Given the description of an element on the screen output the (x, y) to click on. 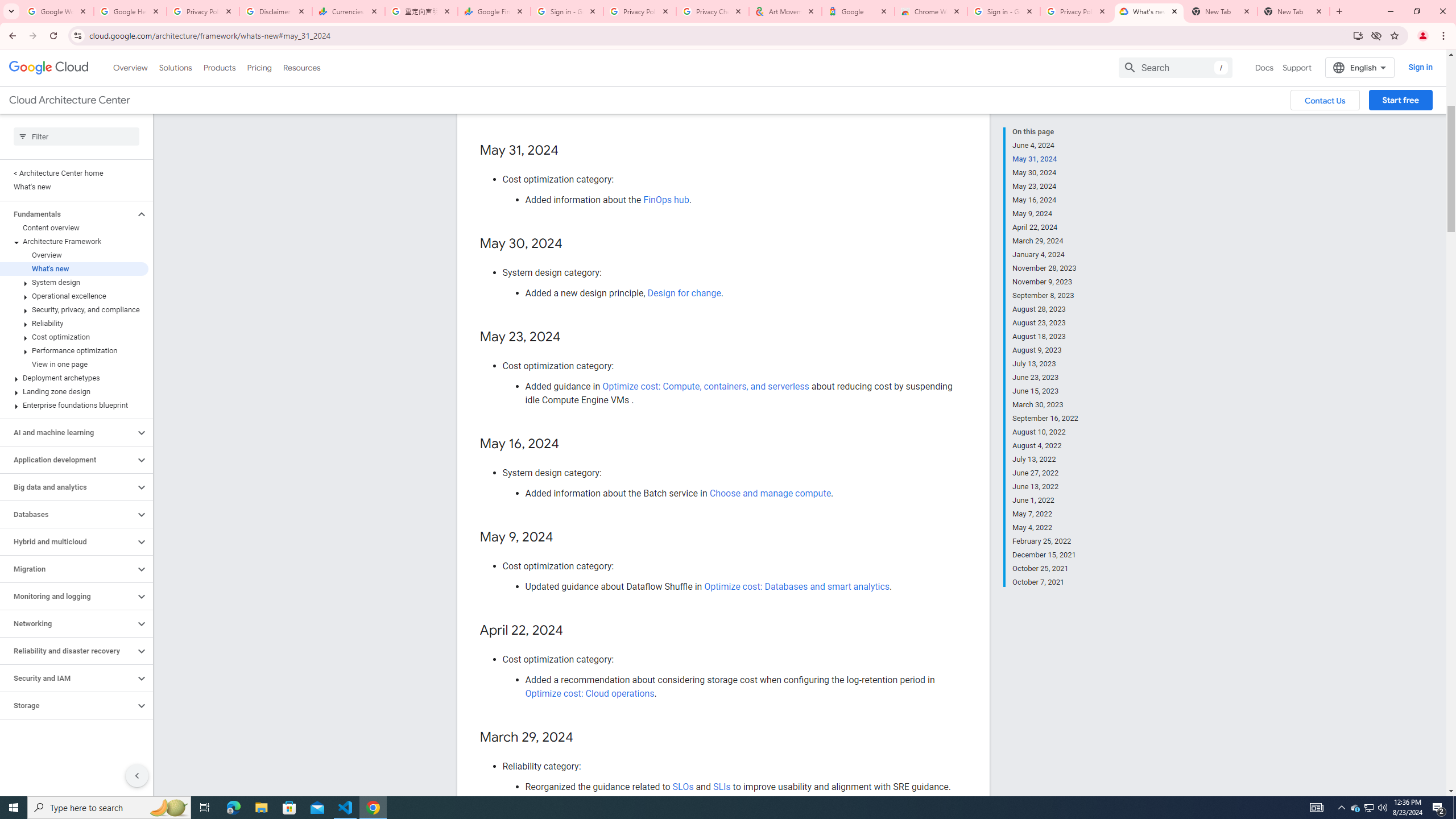
August 9, 2023 (1044, 350)
Operational excellence (74, 296)
Databases (67, 514)
July 13, 2022 (1044, 459)
Architecture Framework (74, 241)
Big data and analytics (67, 486)
January 4, 2024 (1044, 254)
June 4, 2024 (1044, 145)
AI and machine learning (67, 432)
Copy link to this section: March 29, 2024 (583, 737)
March 30, 2023 (1044, 404)
